Given the description of an element on the screen output the (x, y) to click on. 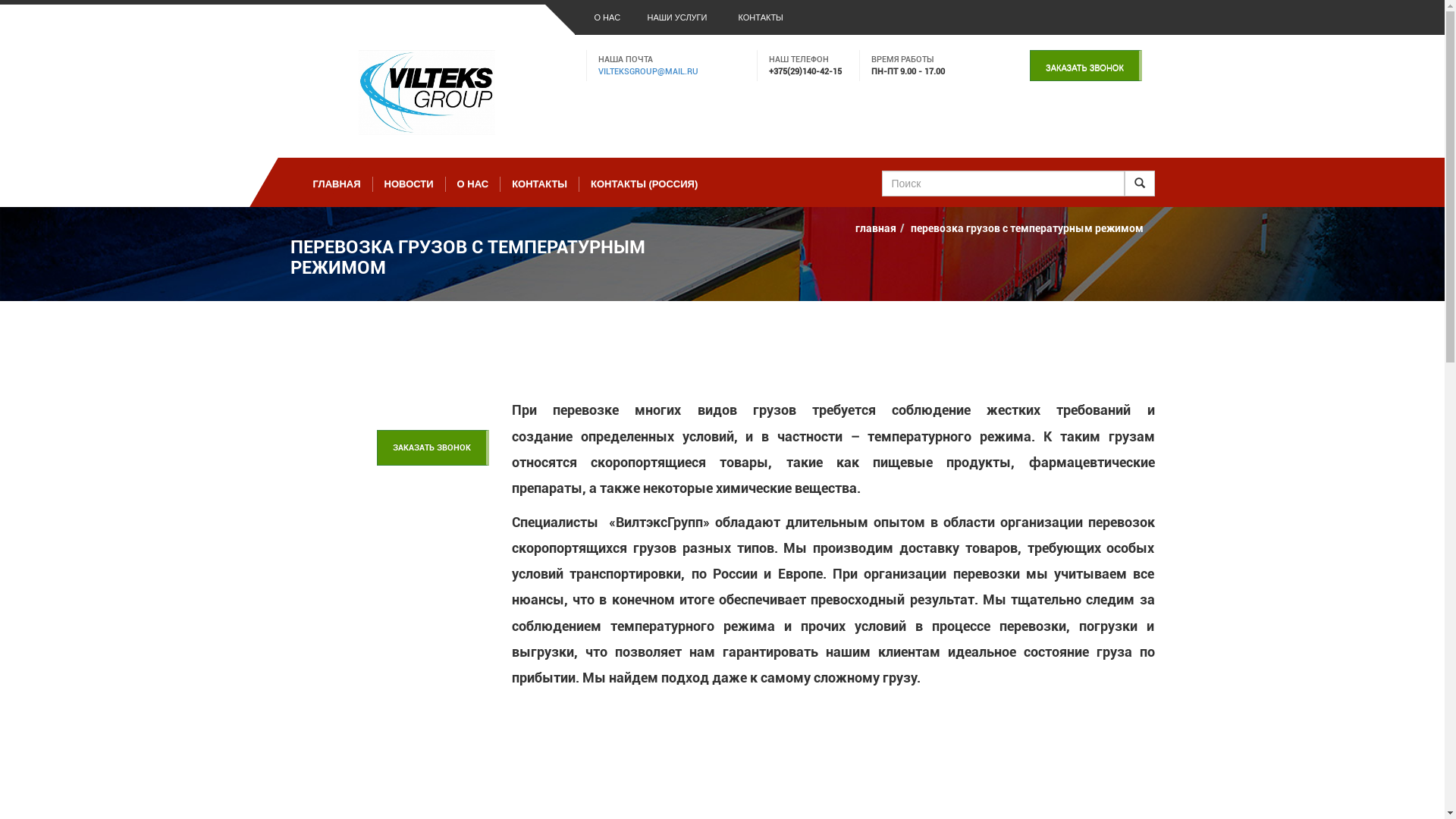
VILTEKSGROUP@MAIL.RU Element type: text (647, 71)
